Given the description of an element on the screen output the (x, y) to click on. 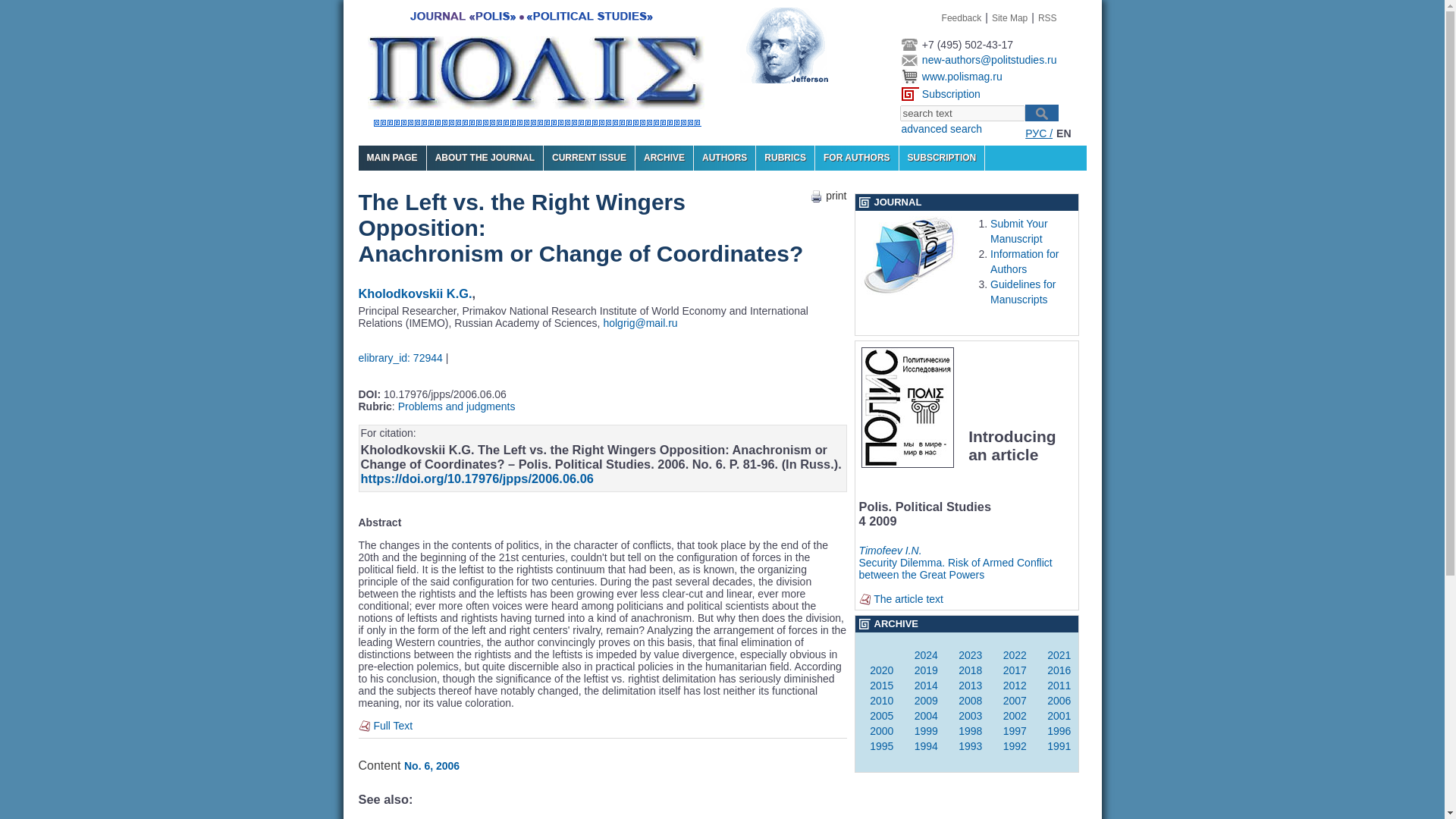
download free (392, 725)
MAIN PAGE (391, 157)
Subscription (950, 93)
ABOUT THE JOURNAL (484, 157)
www.polismag.ru (962, 76)
ARCHIVE (663, 157)
Subscription (950, 93)
Feedback (961, 18)
Site Map (1009, 18)
advanced search (941, 128)
CURRENT ISSUE (588, 157)
AUTHORS (724, 157)
search text (962, 113)
RSS (1047, 18)
